Given the description of an element on the screen output the (x, y) to click on. 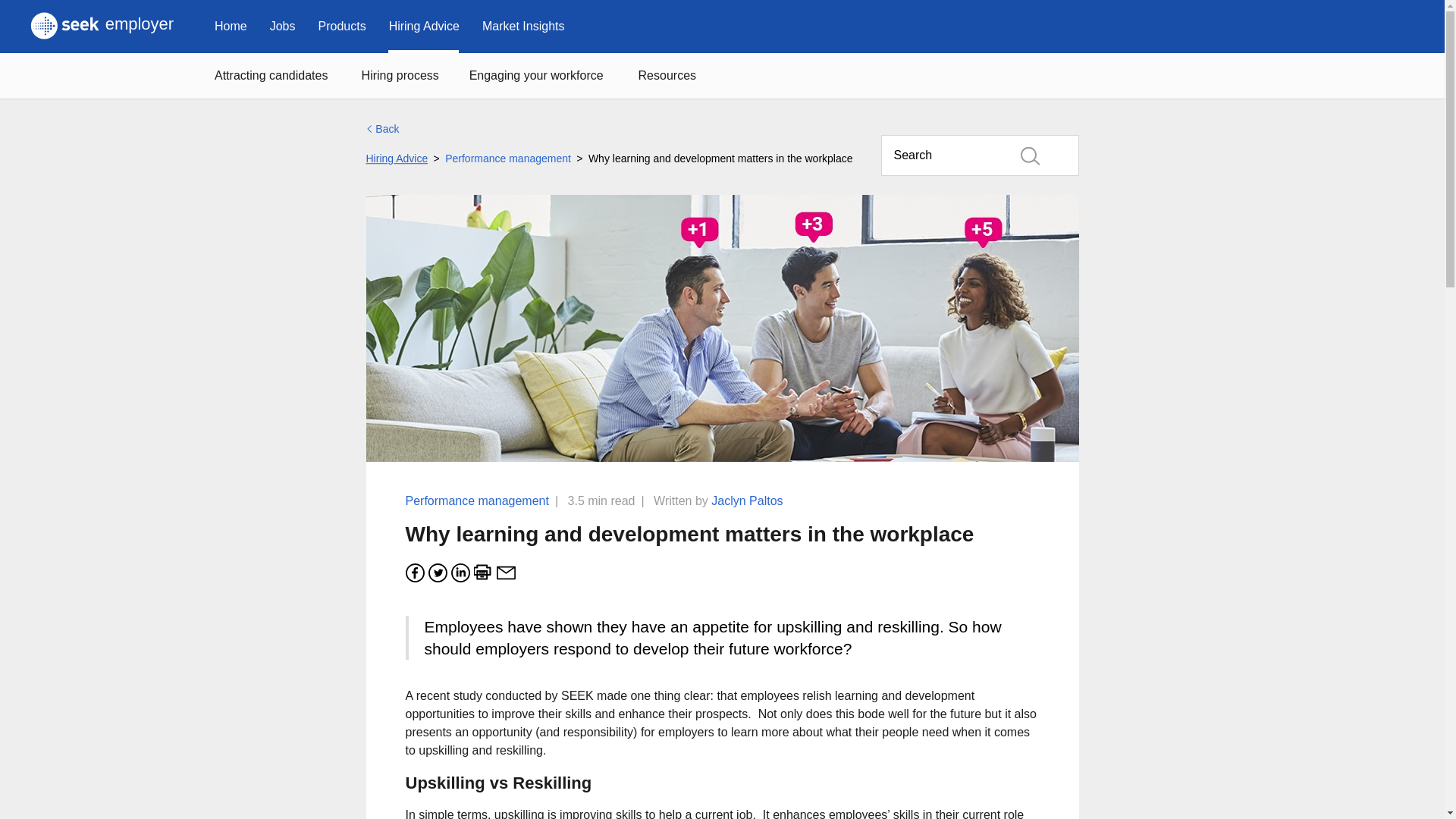
Market Insights (522, 26)
Jobs (283, 26)
Hiring Advice (423, 26)
Attracting candidates (276, 75)
Home (231, 26)
Engaging your workforce (542, 75)
Hiring process (404, 75)
Products (341, 26)
Hiring process (404, 75)
Engaging your workforce (101, 26)
Resources (542, 75)
Resources (669, 75)
Attracting candidates (669, 75)
